Given the description of an element on the screen output the (x, y) to click on. 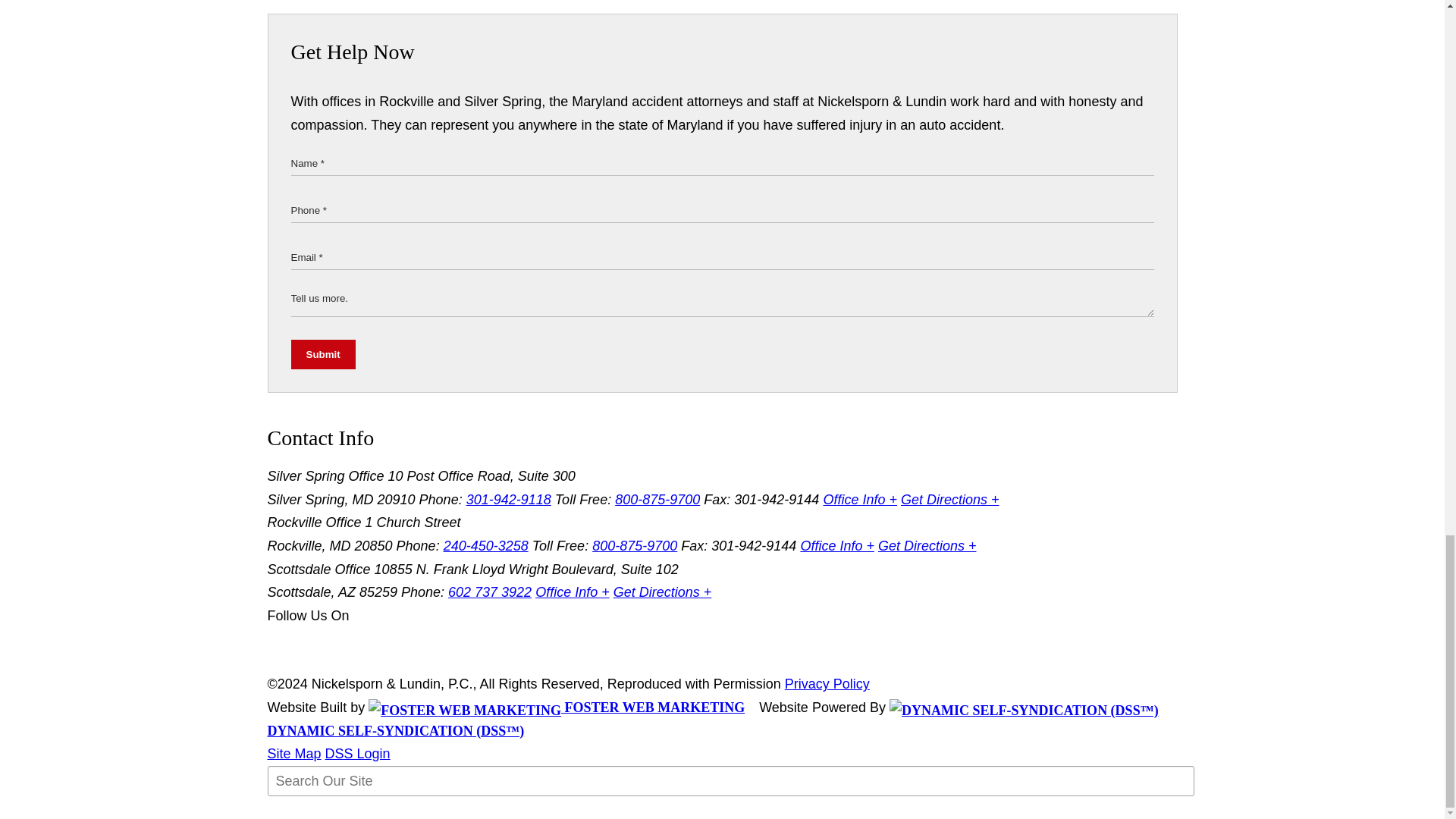
240-450-3258 (486, 545)
301-942-9118 (508, 499)
800-875-9700 (657, 499)
800-875-9700 (634, 545)
Submit (323, 354)
